Given the description of an element on the screen output the (x, y) to click on. 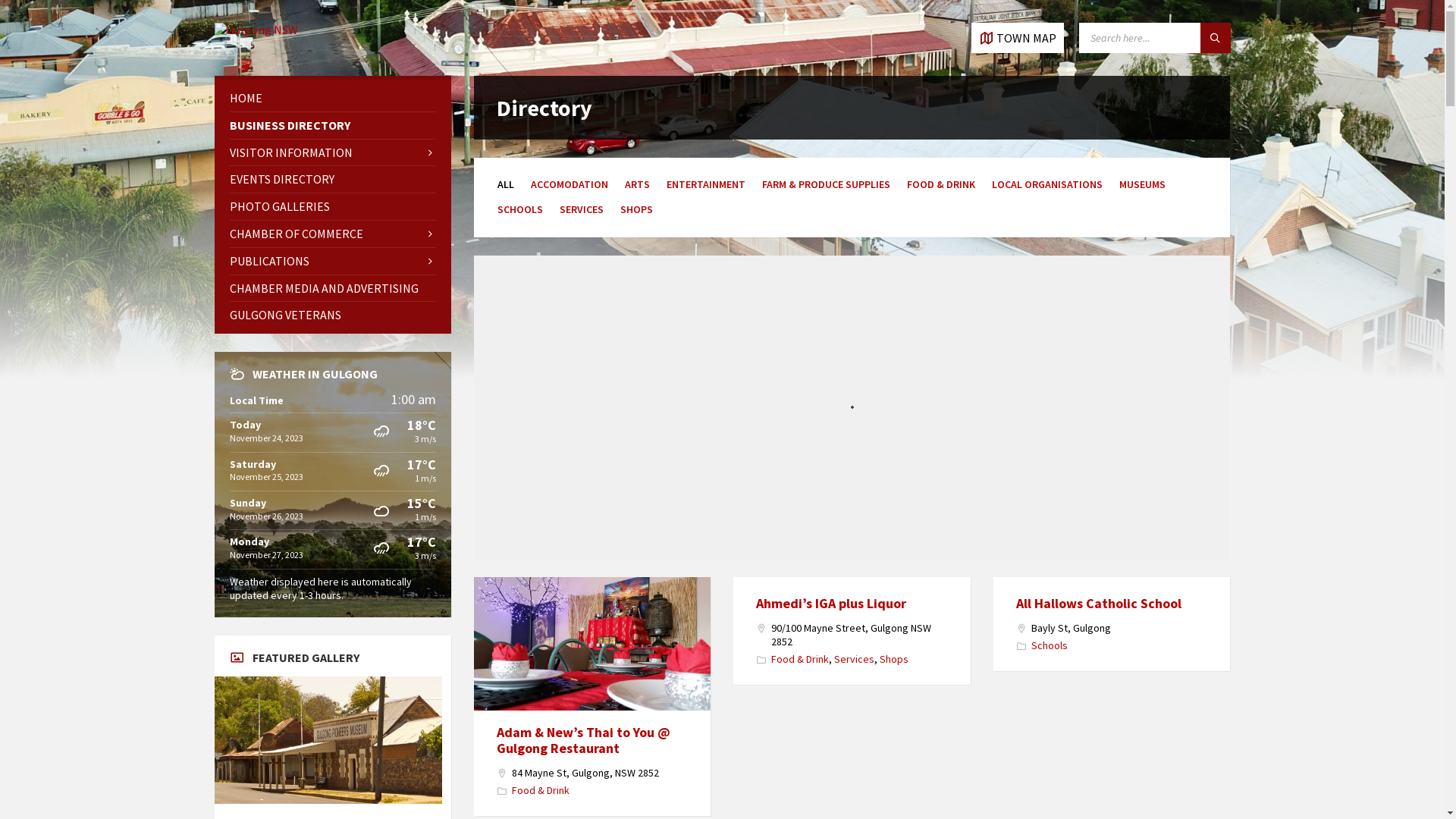
Submit search Element type: hover (1214, 37)
Shops Element type: text (893, 658)
CHAMBER MEDIA AND ADVERTISING Element type: text (332, 288)
TOWN MAP Element type: text (1016, 37)
SCHOOLS Element type: text (519, 209)
FOOD & DRINK Element type: text (940, 184)
SHOPS Element type: text (636, 209)
Museum Element type: hover (327, 739)
Food & Drink Element type: text (540, 790)
LOCAL ORGANISATIONS Element type: text (1046, 184)
HOME Element type: text (332, 97)
ARTS Element type: text (636, 184)
EVENTS DIRECTORY Element type: text (332, 179)
BUSINESS DIRECTORY Element type: text (332, 125)
SERVICES Element type: text (581, 209)
All Hallows Catholic School Element type: text (1098, 602)
VISITOR INFORMATION Element type: text (332, 152)
ENTERTAINMENT Element type: text (705, 184)
CHAMBER OF COMMERCE Element type: text (332, 233)
Food & Drink Element type: text (799, 658)
FARM & PRODUCE SUPPLIES Element type: text (826, 184)
Schools Element type: text (1049, 645)
GULGONG VETERANS Element type: text (332, 314)
ACCOMODATION Element type: text (569, 184)
MUSEUMS Element type: text (1142, 184)
Services Element type: text (854, 658)
PHOTO GALLERIES Element type: text (332, 206)
PUBLICATIONS Element type: text (332, 260)
